Given the description of an element on the screen output the (x, y) to click on. 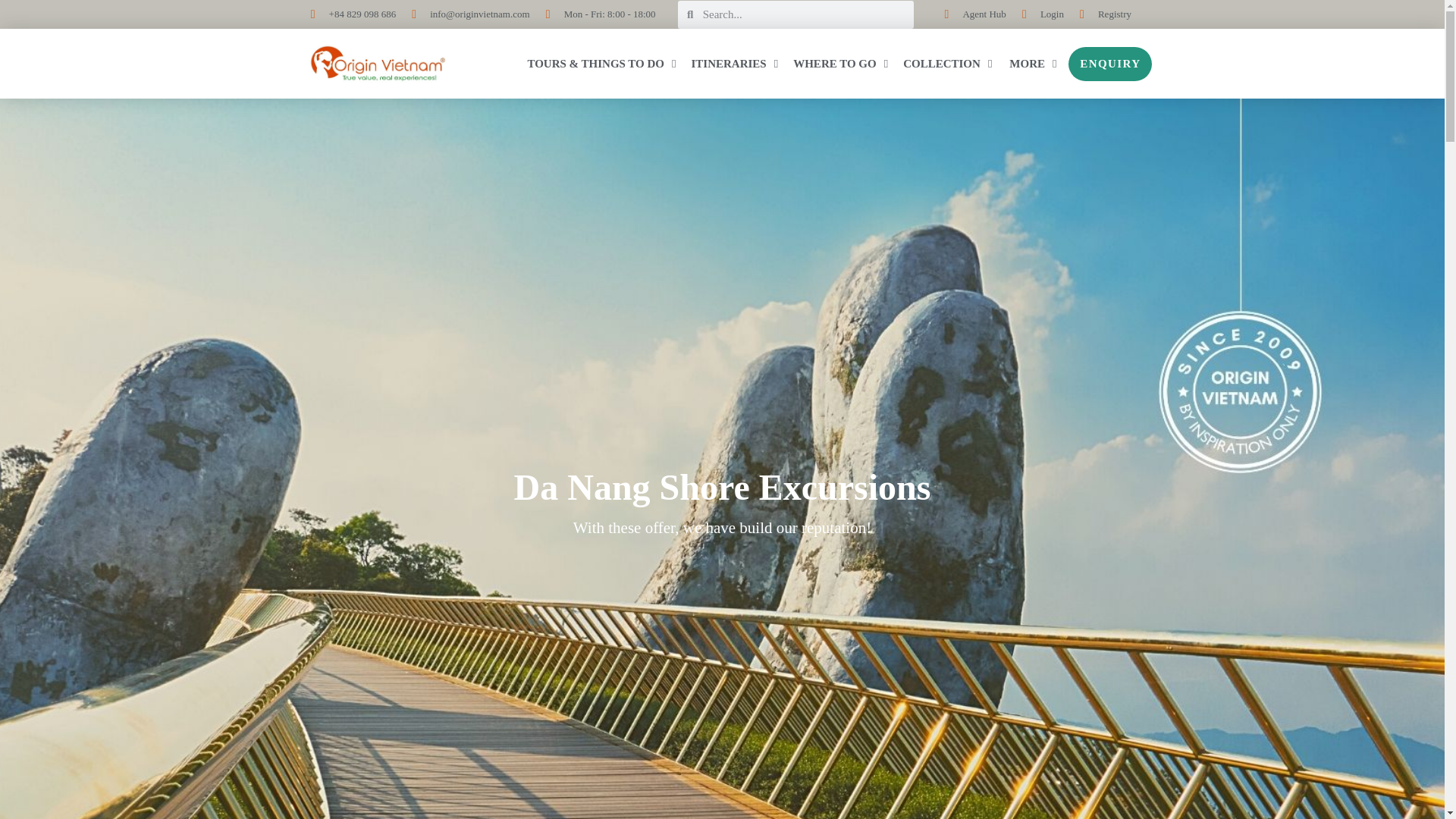
Agent Hub (969, 14)
Login (1037, 14)
Registry (1099, 14)
